Given the description of an element on the screen output the (x, y) to click on. 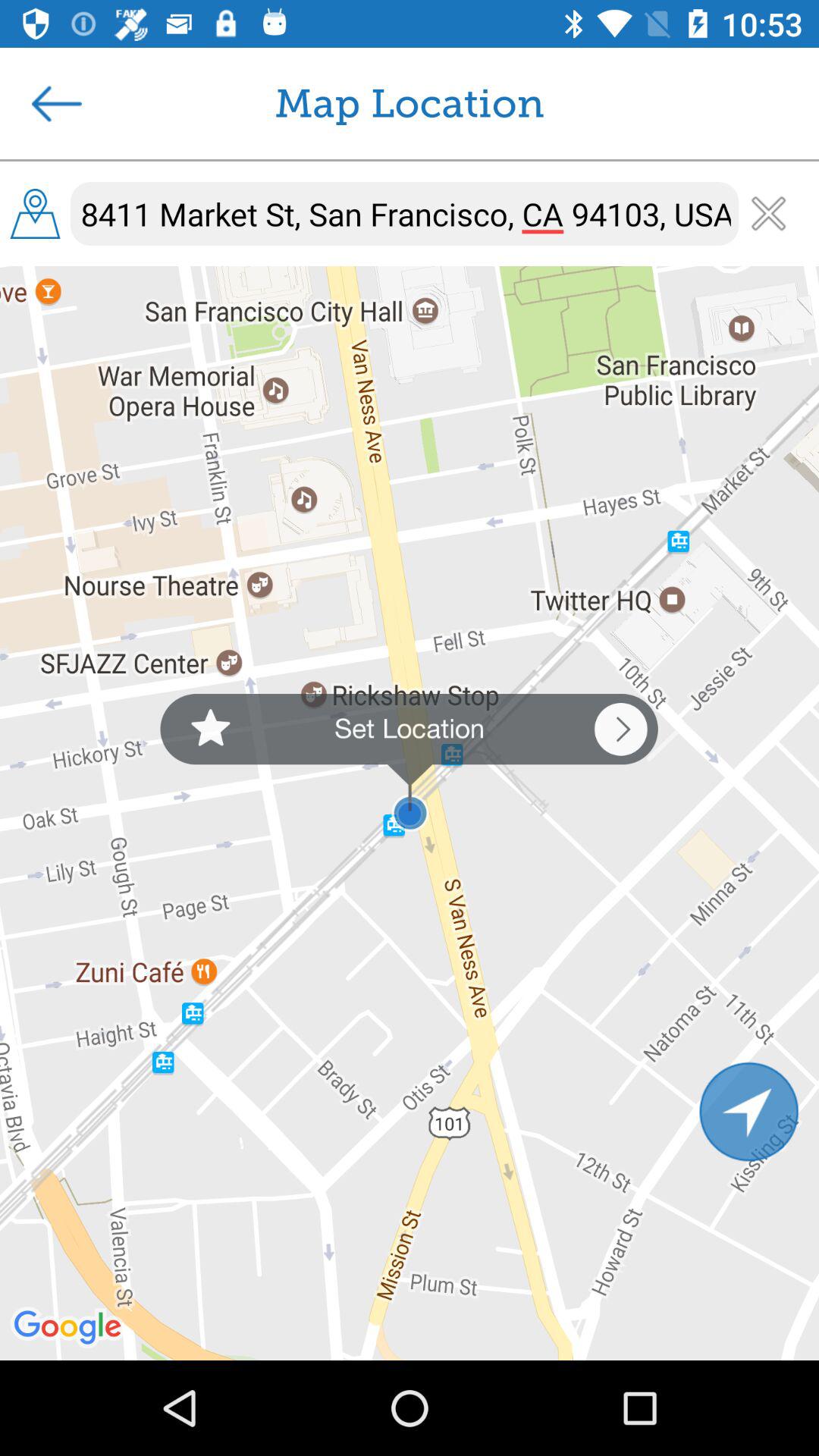
sets the shown location as my location (409, 762)
